Given the description of an element on the screen output the (x, y) to click on. 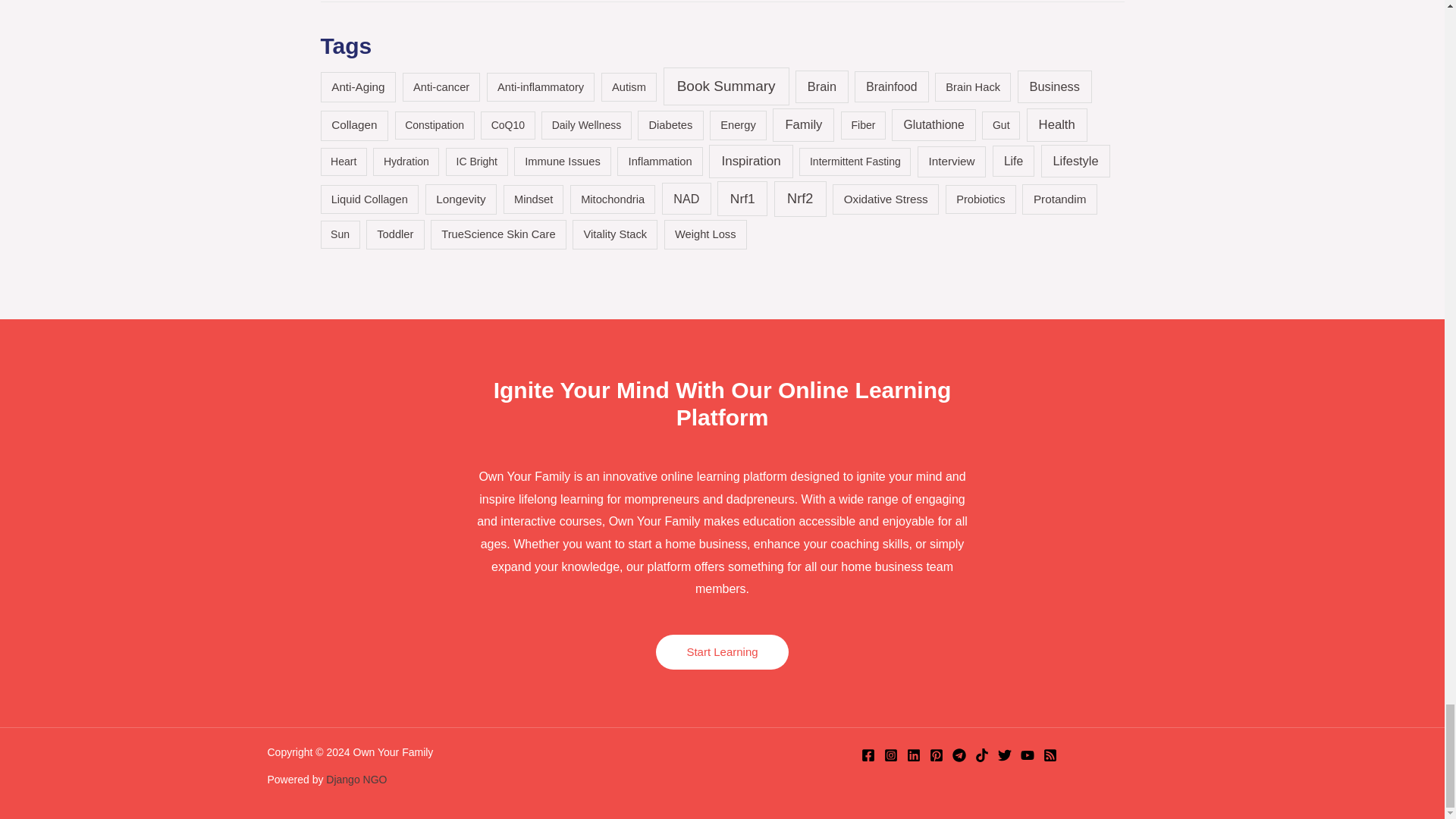
Anti-Aging (358, 87)
Anti-cancer (441, 87)
